Given the description of an element on the screen output the (x, y) to click on. 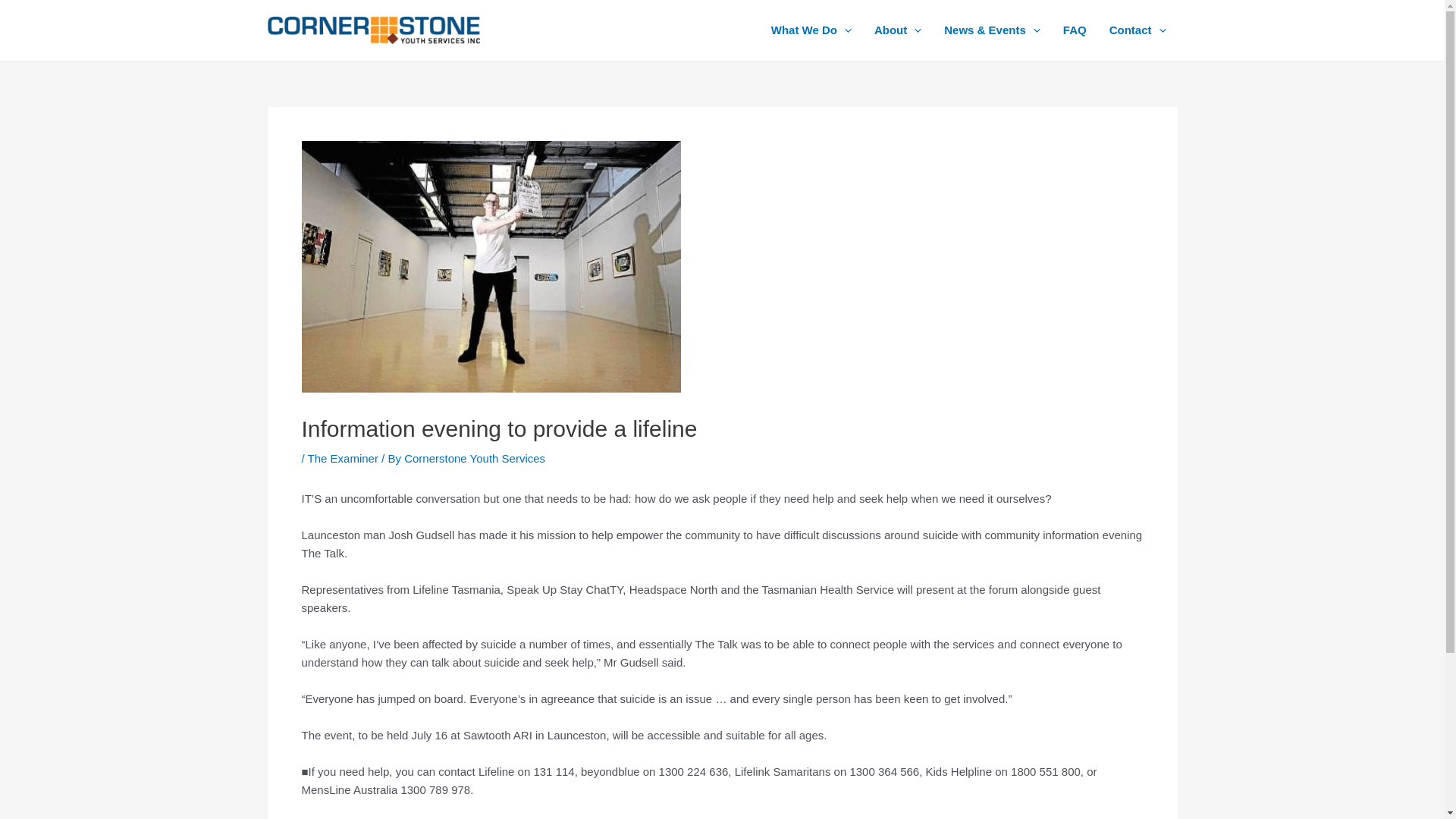
FAQ Element type: text (1074, 30)
News & Events Element type: text (991, 30)
Contact Element type: text (1137, 30)
Cornerstone Youth Services Element type: text (474, 457)
The Examiner Element type: text (342, 457)
What We Do Element type: text (810, 30)
About Element type: text (897, 30)
